Given the description of an element on the screen output the (x, y) to click on. 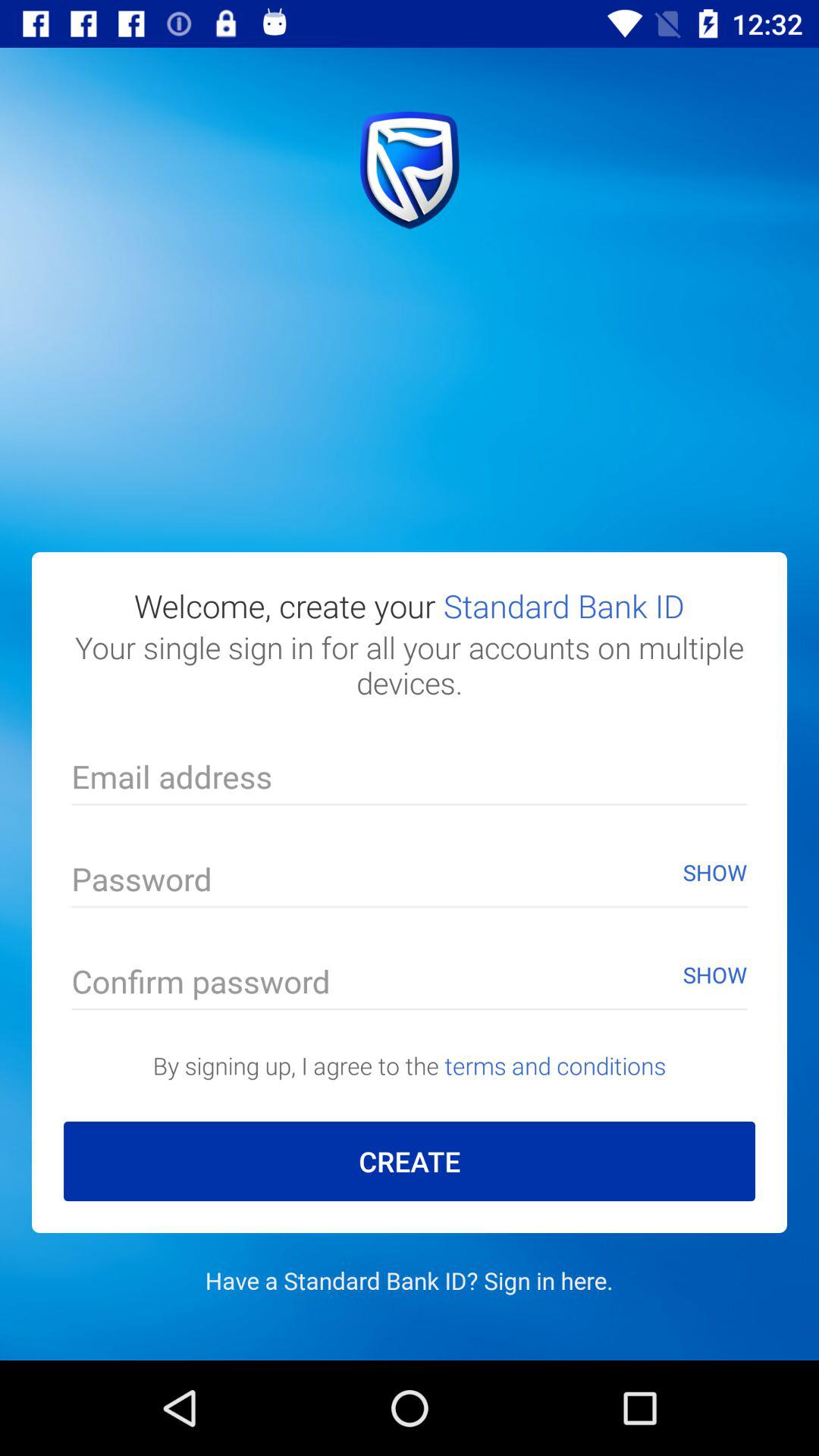
scroll until welcome create your (409, 605)
